Given the description of an element on the screen output the (x, y) to click on. 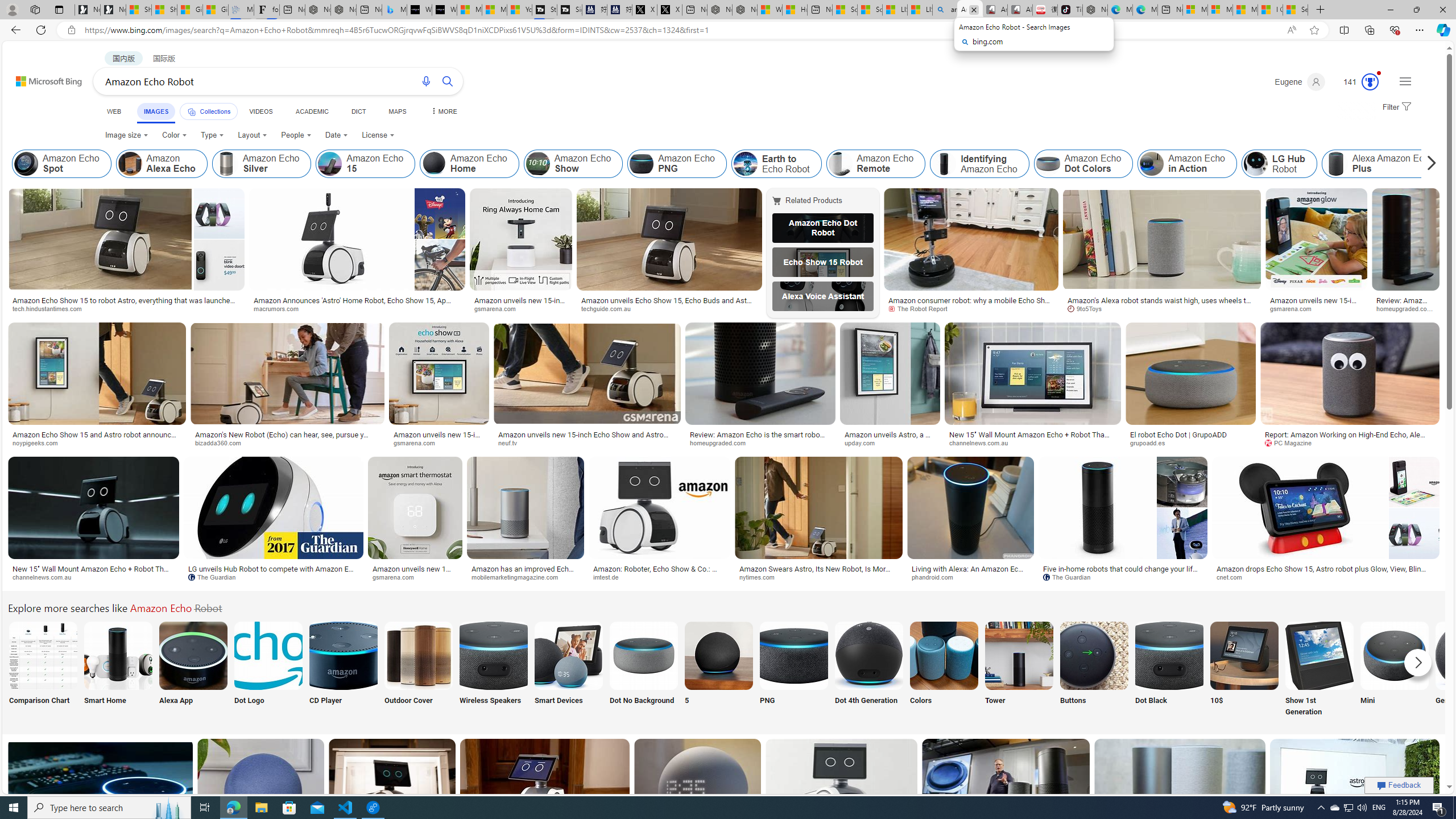
Dot Black (1169, 669)
I Gained 20 Pounds of Muscle in 30 Days! | Watch (1270, 9)
Amazon Echo Buttons Buttons (1093, 669)
mobilemarketingmagazine.com (518, 576)
grupoadd.es (1151, 442)
The Robot Report (971, 308)
phandroid.com (970, 576)
X (669, 9)
